Given the description of an element on the screen output the (x, y) to click on. 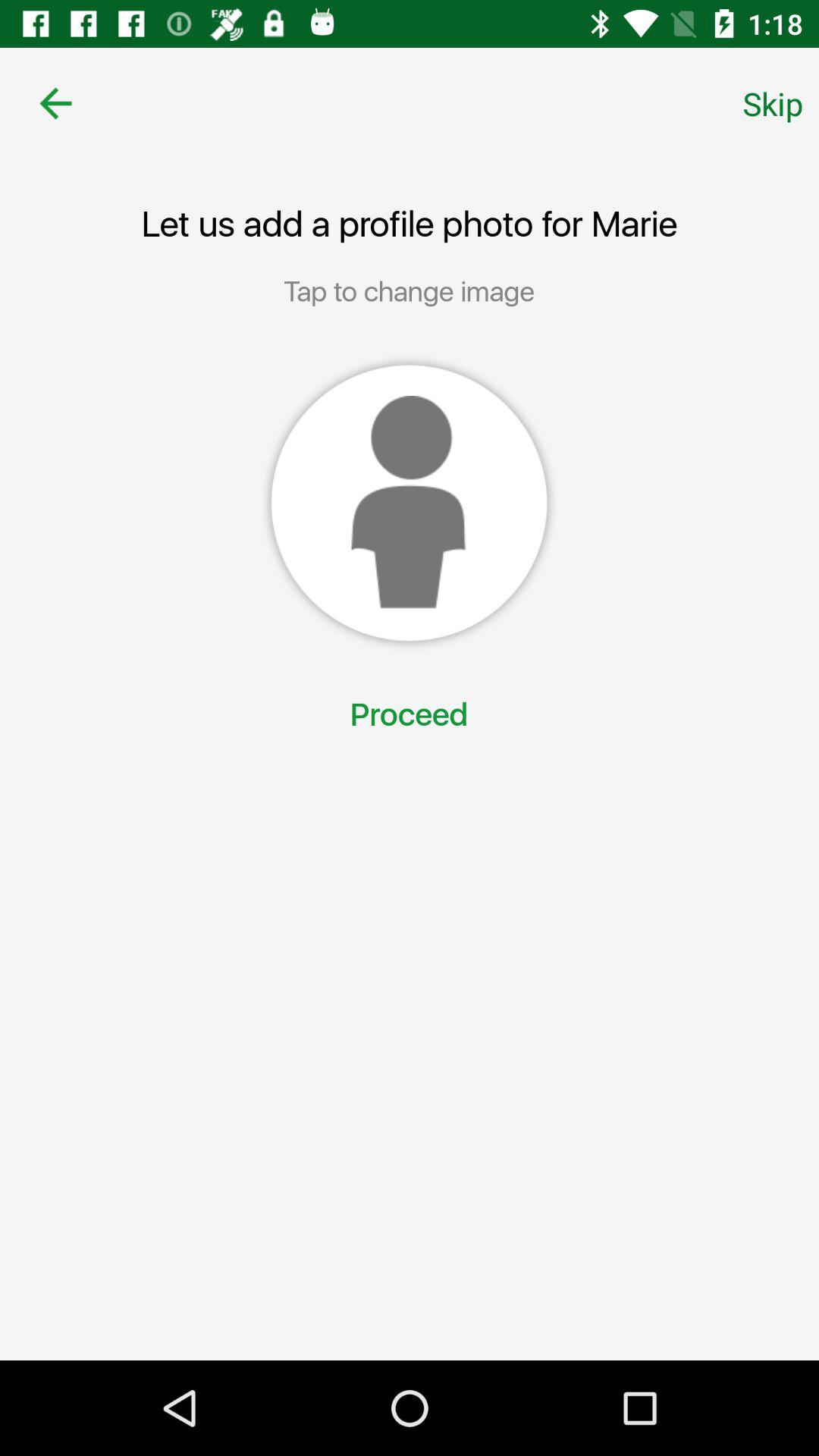
select skip icon (772, 103)
